Given the description of an element on the screen output the (x, y) to click on. 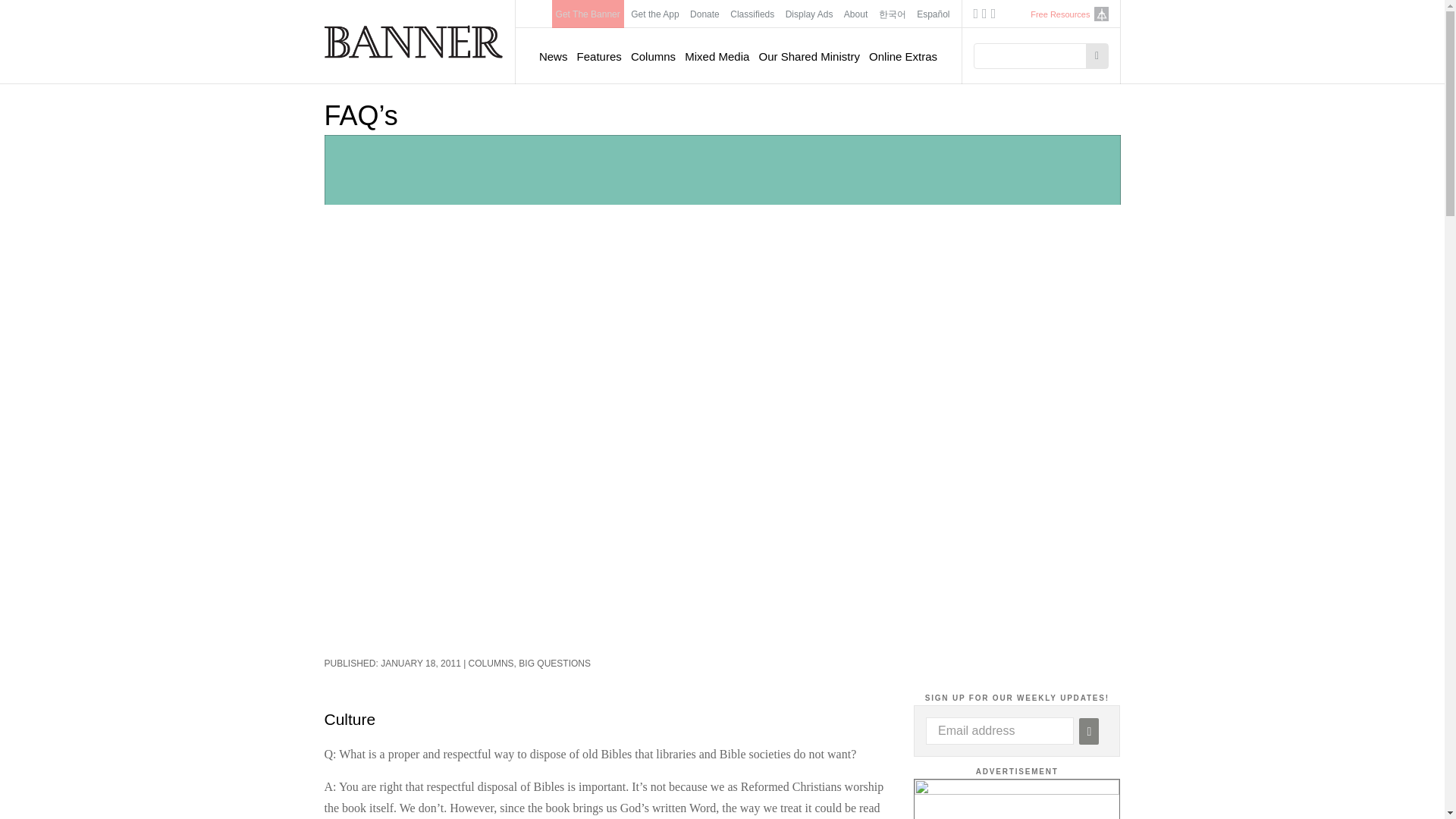
About (855, 14)
Mixed Media (716, 56)
Columns (652, 56)
News (552, 56)
Donate (704, 14)
Home (413, 41)
Classifieds (751, 14)
Search (1097, 55)
crcna.org (1100, 13)
Enter the terms you wish to search for. (1035, 55)
COLUMNS, (493, 663)
Online Extras (903, 56)
BIG QUESTIONS (554, 663)
Free Resources (1059, 13)
